Given the description of an element on the screen output the (x, y) to click on. 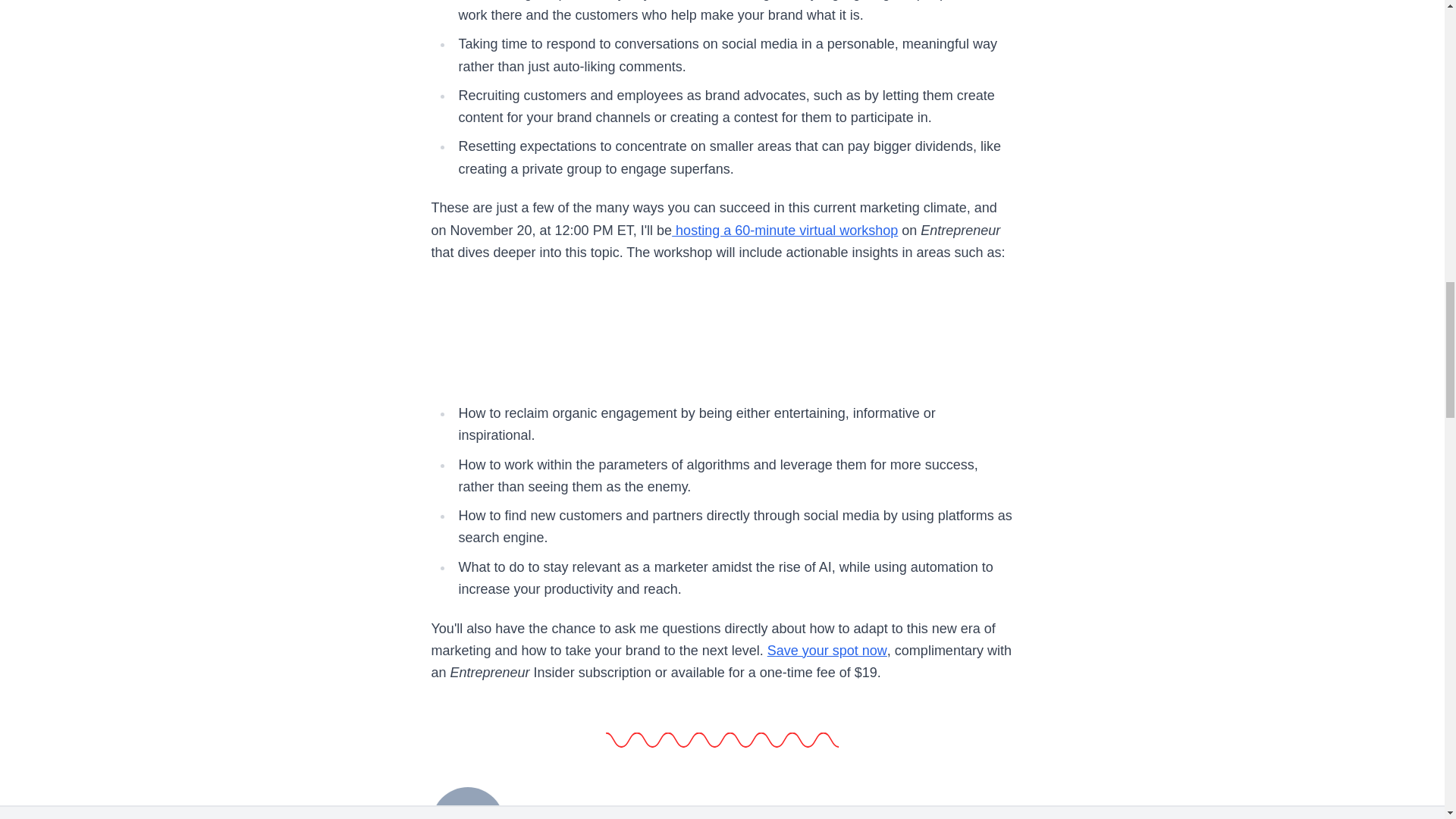
Carlos Gil (466, 801)
Save your spot now (826, 650)
hosting a 60-minute virtual workshop (784, 230)
Carlos Gil (558, 810)
